Given the description of an element on the screen output the (x, y) to click on. 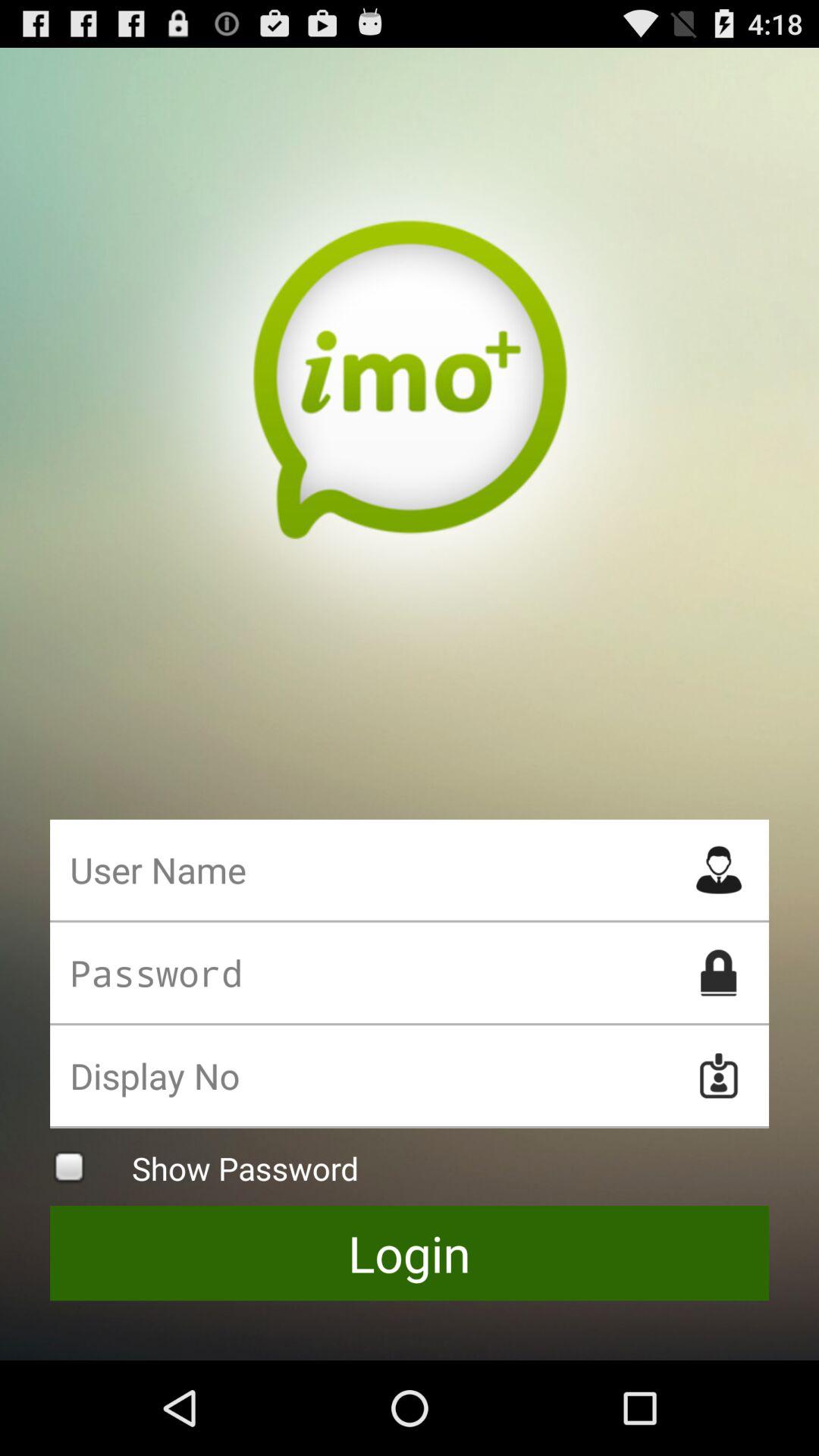
scroll until login button (409, 1252)
